Given the description of an element on the screen output the (x, y) to click on. 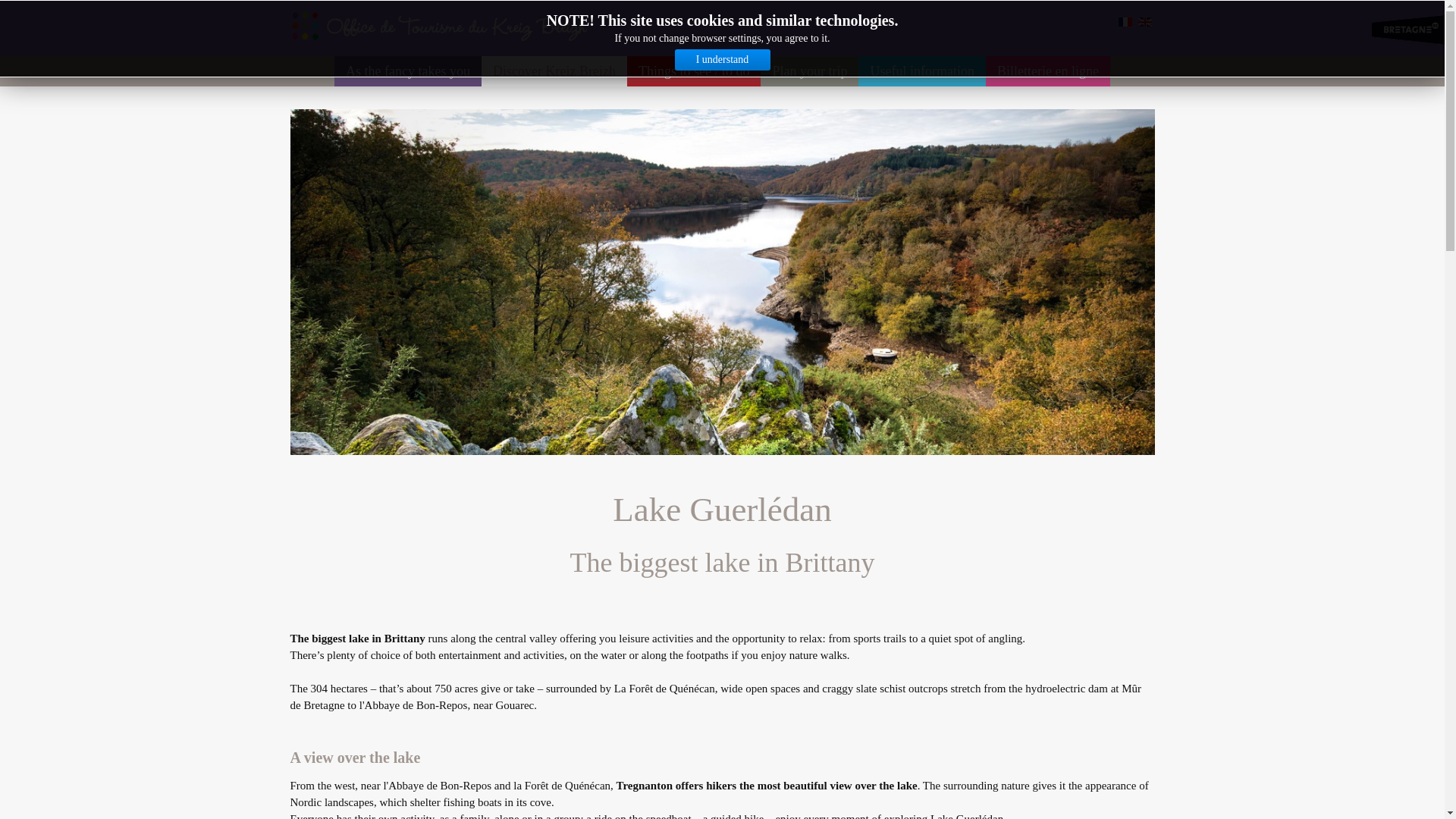
As the fancy takes you (407, 71)
Discover Kreiz Breizh (554, 71)
Plan your trip (809, 71)
Useful information (922, 71)
Tourisme Kreiz Breizh (407, 71)
